Given the description of an element on the screen output the (x, y) to click on. 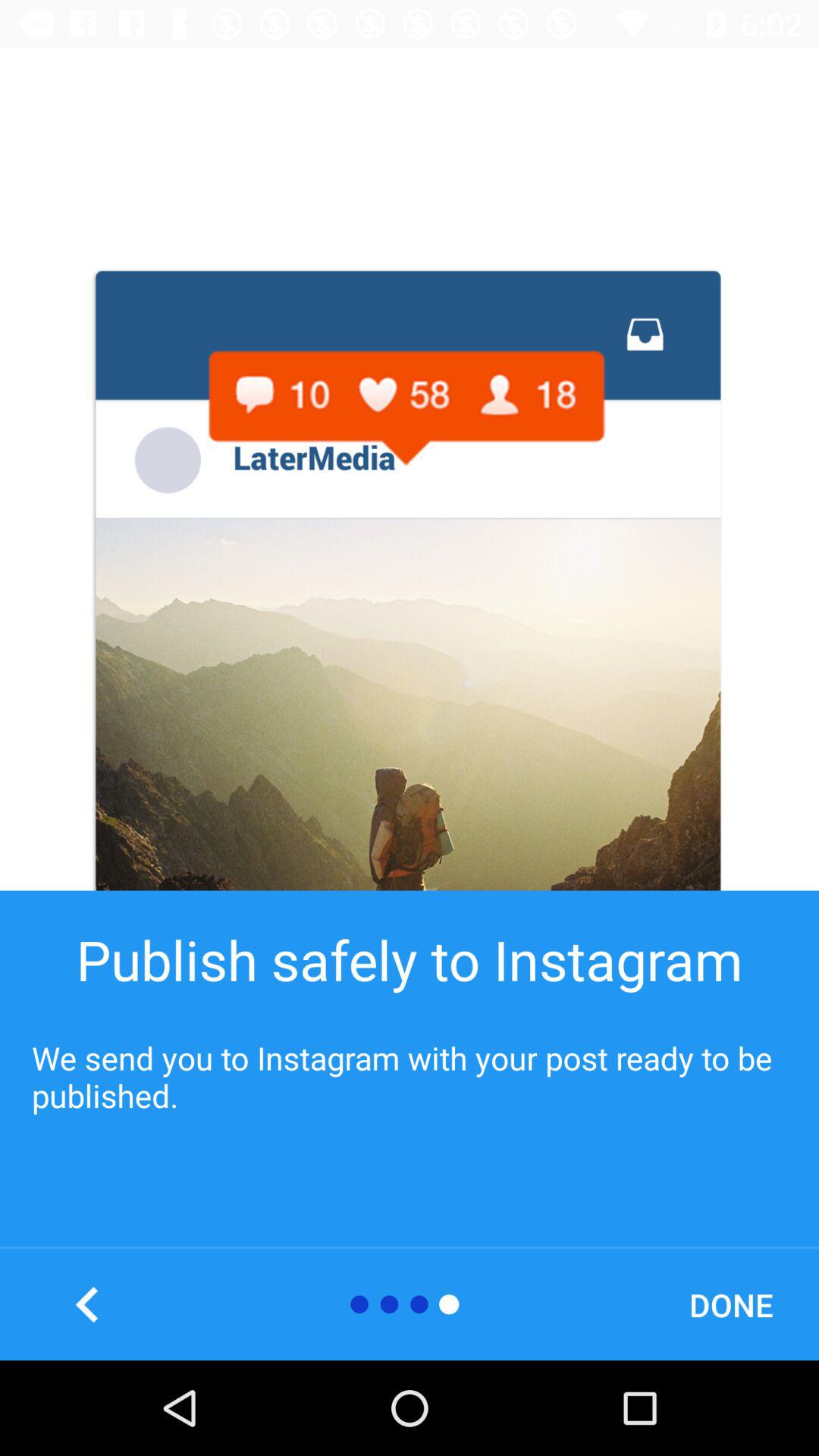
press done icon (731, 1304)
